Given the description of an element on the screen output the (x, y) to click on. 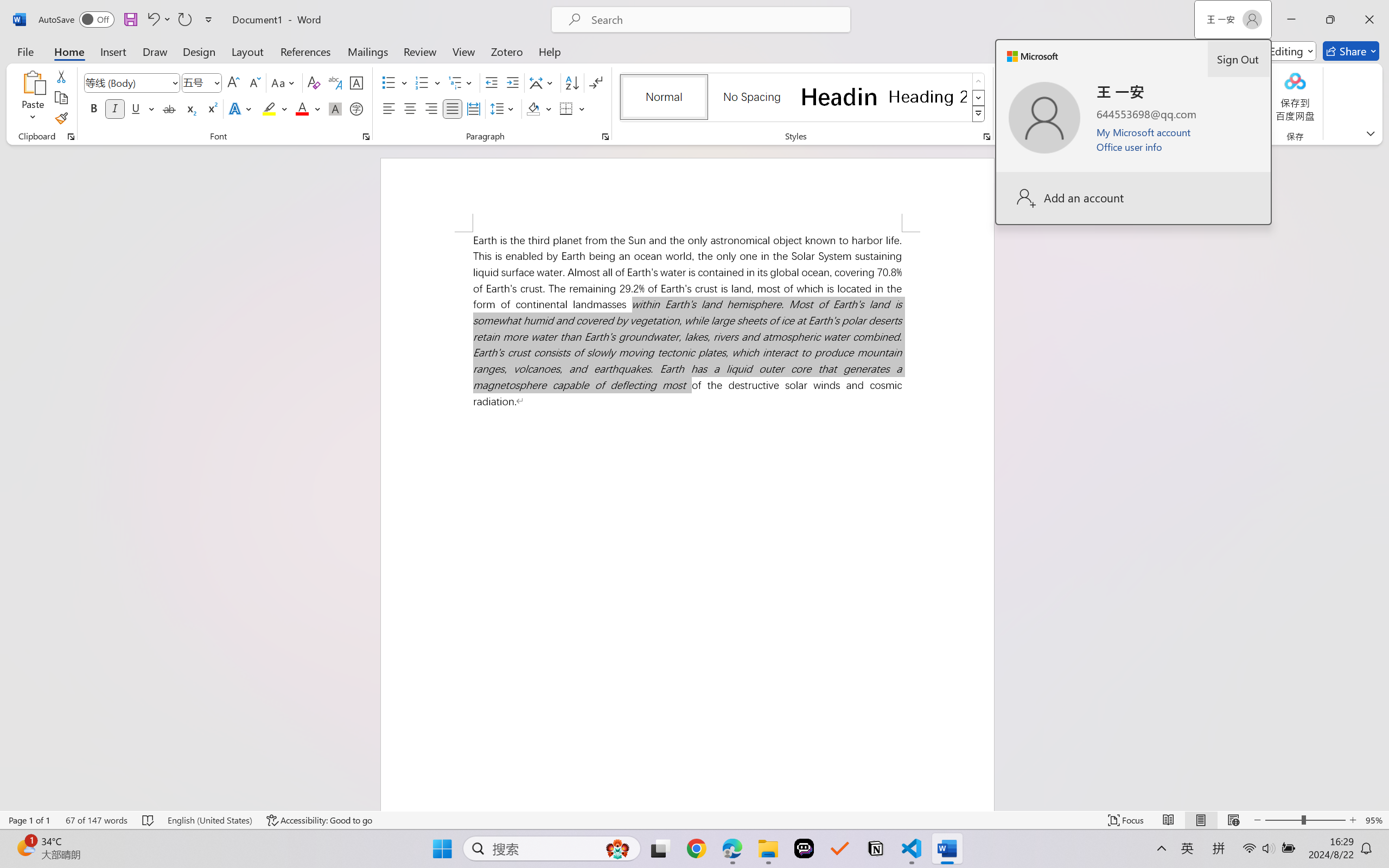
Undo Italic (158, 19)
Bold (94, 108)
Help (549, 51)
Heading 2 (927, 96)
Office Clipboard... (70, 136)
Repeat Doc Close (184, 19)
Distributed (473, 108)
